Given the description of an element on the screen output the (x, y) to click on. 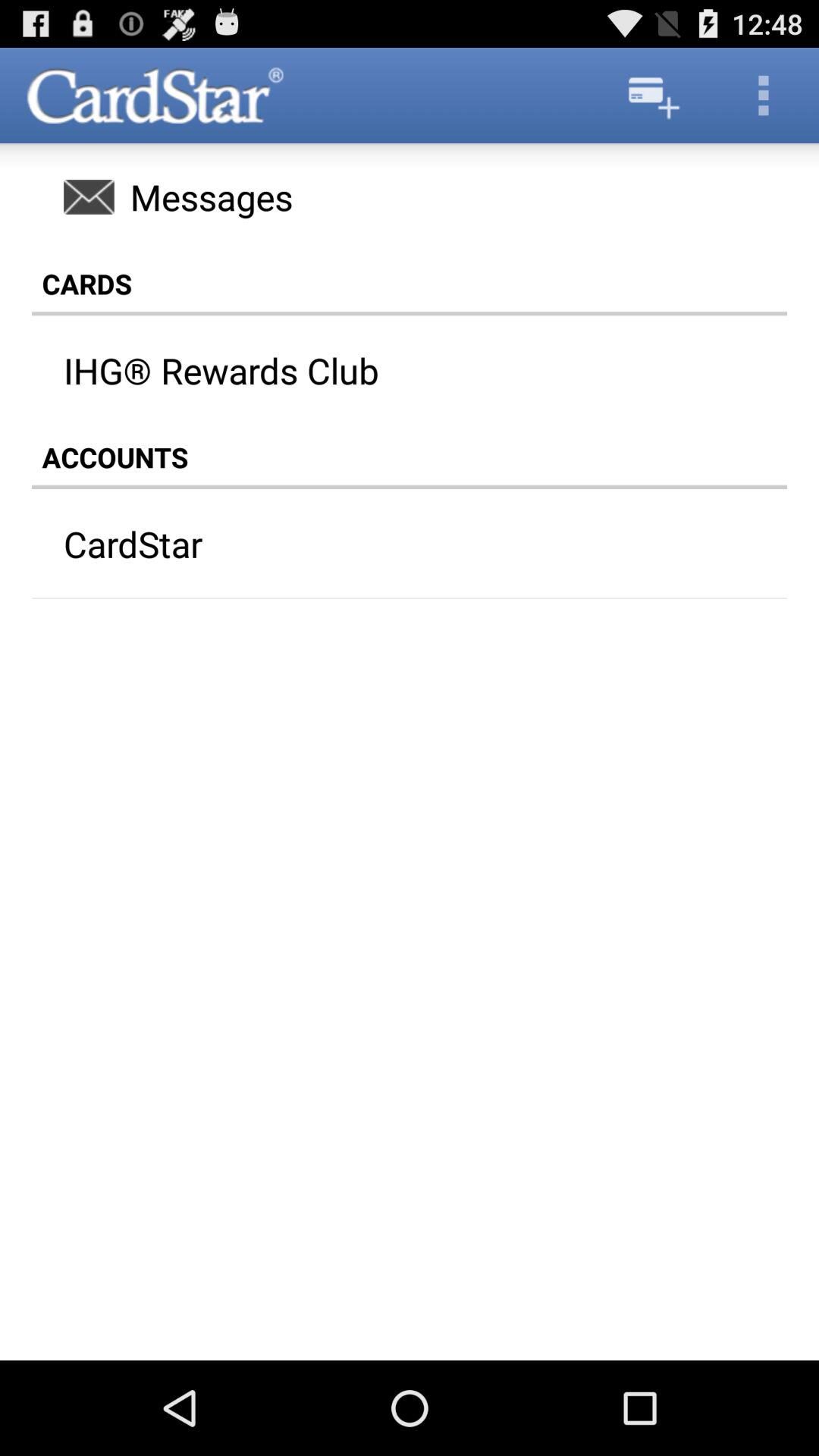
choose item below the accounts (379, 543)
